Given the description of an element on the screen output the (x, y) to click on. 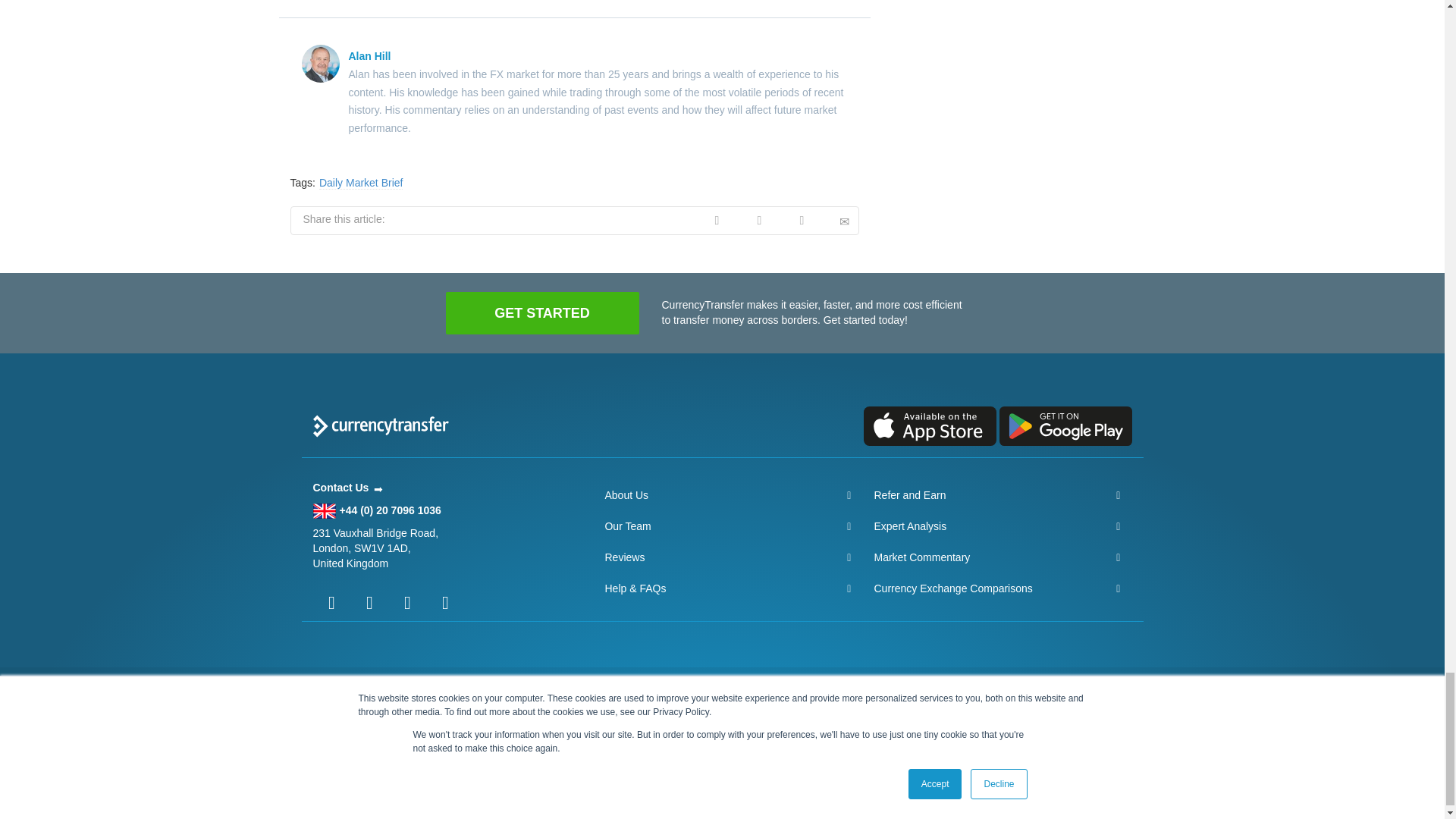
Daily Market Brief (360, 182)
